Given the description of an element on the screen output the (x, y) to click on. 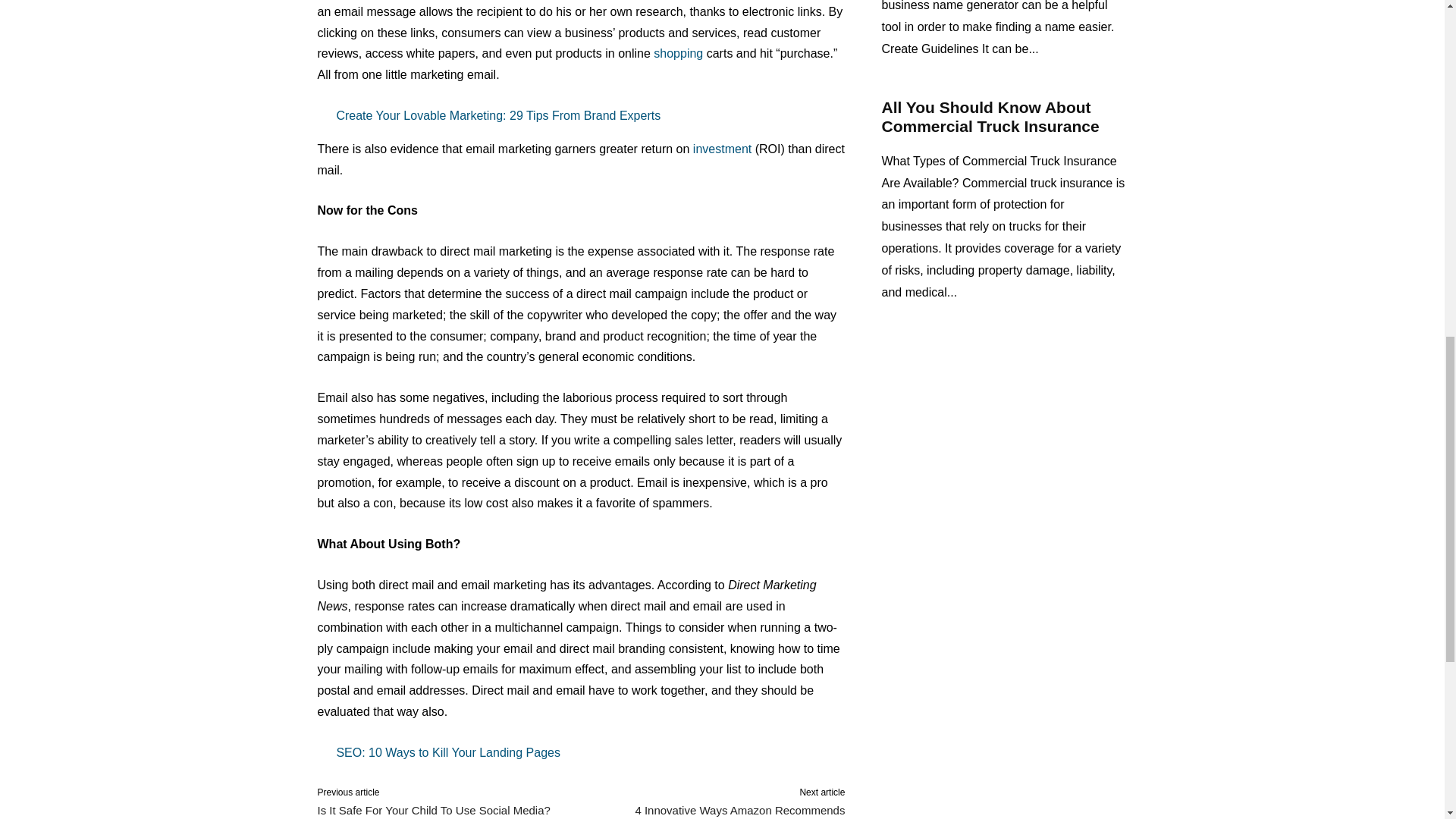
investment (722, 148)
  SEO: 10 Ways to Kill Your Landing Pages (580, 752)
Is It Safe For Your Child To Use Social Media? Yes Or No? (433, 811)
investment (722, 148)
All You Should Know About Commercial Truck Insurance (989, 116)
4 Innovative Ways Amazon Recommends Products (739, 811)
shopping (678, 52)
  Create Your Lovable Marketing: 29 Tips From Brand Experts (580, 115)
shopping (678, 52)
